Given the description of an element on the screen output the (x, y) to click on. 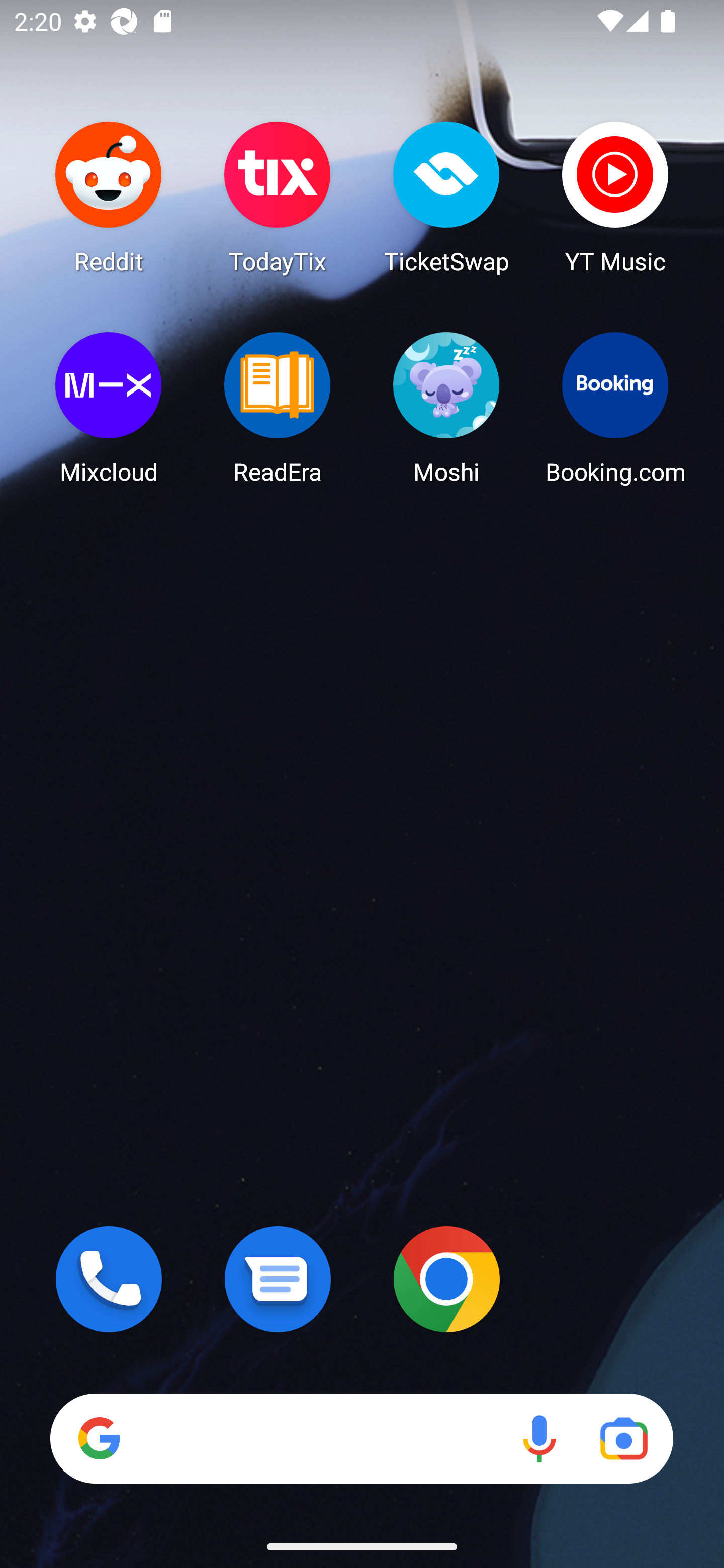
Reddit (108, 196)
TodayTix (277, 196)
TicketSwap (445, 196)
YT Music (615, 196)
Mixcloud (108, 407)
ReadEra (277, 407)
Moshi (445, 407)
Booking.com (615, 407)
Phone (108, 1279)
Messages (277, 1279)
Chrome (446, 1279)
Search Voice search Google Lens (361, 1438)
Voice search (539, 1438)
Google Lens (623, 1438)
